Given the description of an element on the screen output the (x, y) to click on. 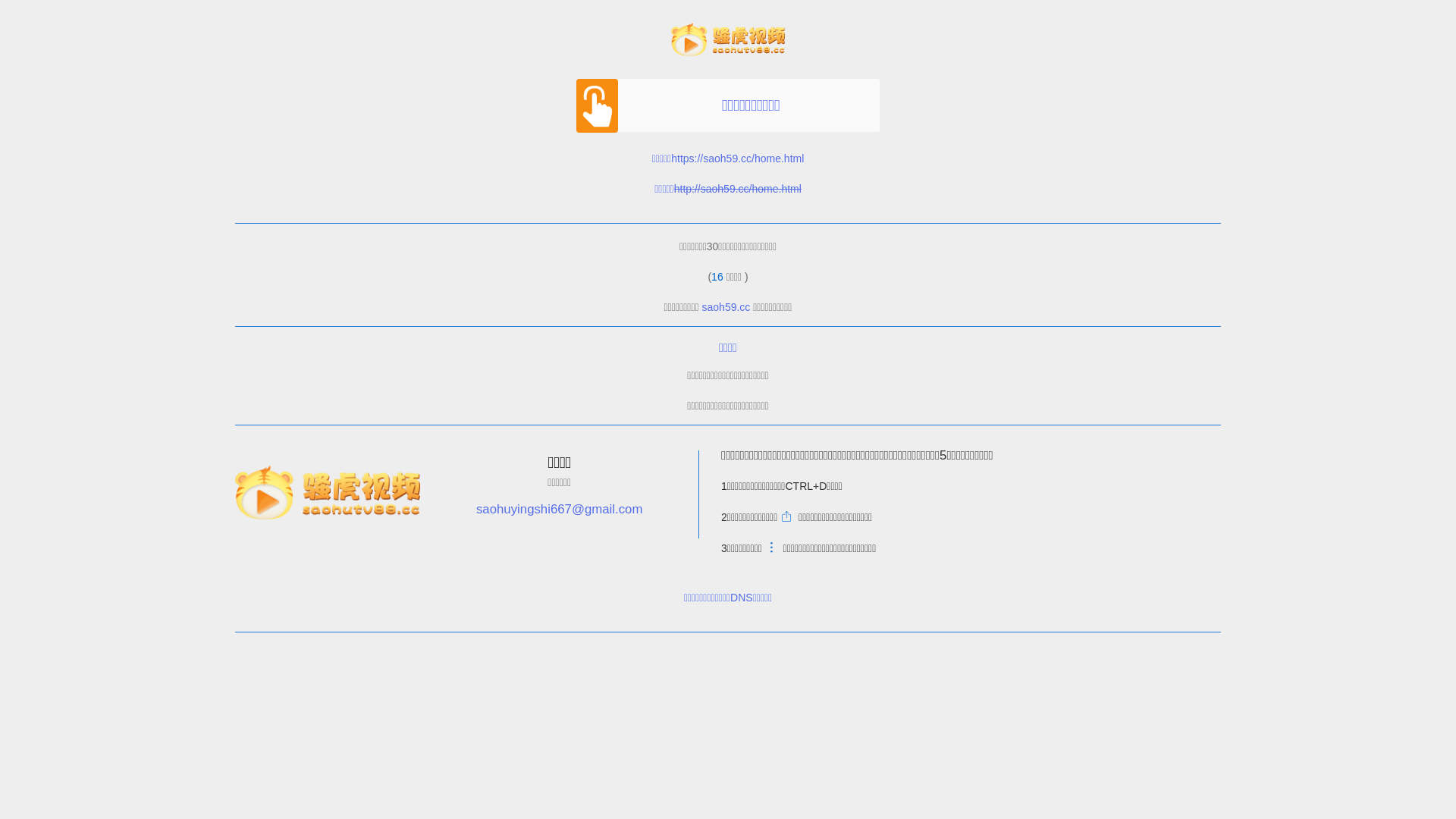
saoh59.cc Element type: text (726, 307)
